Given the description of an element on the screen output the (x, y) to click on. 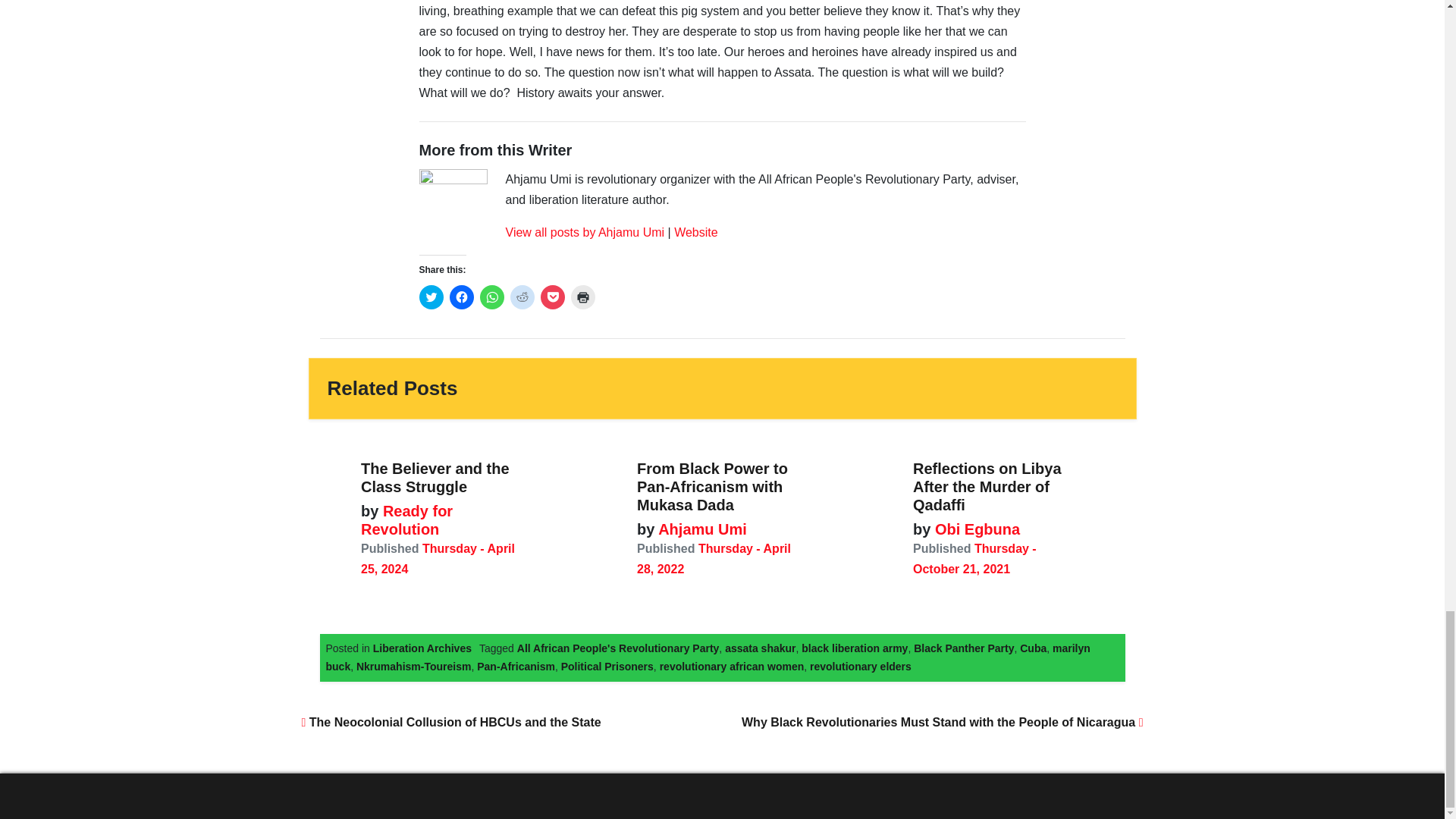
From Black Power to Pan-Africanism with Mukasa Dada (712, 486)
Ahjamu Umi (699, 528)
Thursday - April 28, 2022 (713, 558)
Ready for Revolution (406, 519)
The Believer and the Class Struggle (435, 477)
View all posts by Ahjamu Umi (584, 232)
Thursday - April 25, 2024 (438, 558)
Website (695, 232)
